Given the description of an element on the screen output the (x, y) to click on. 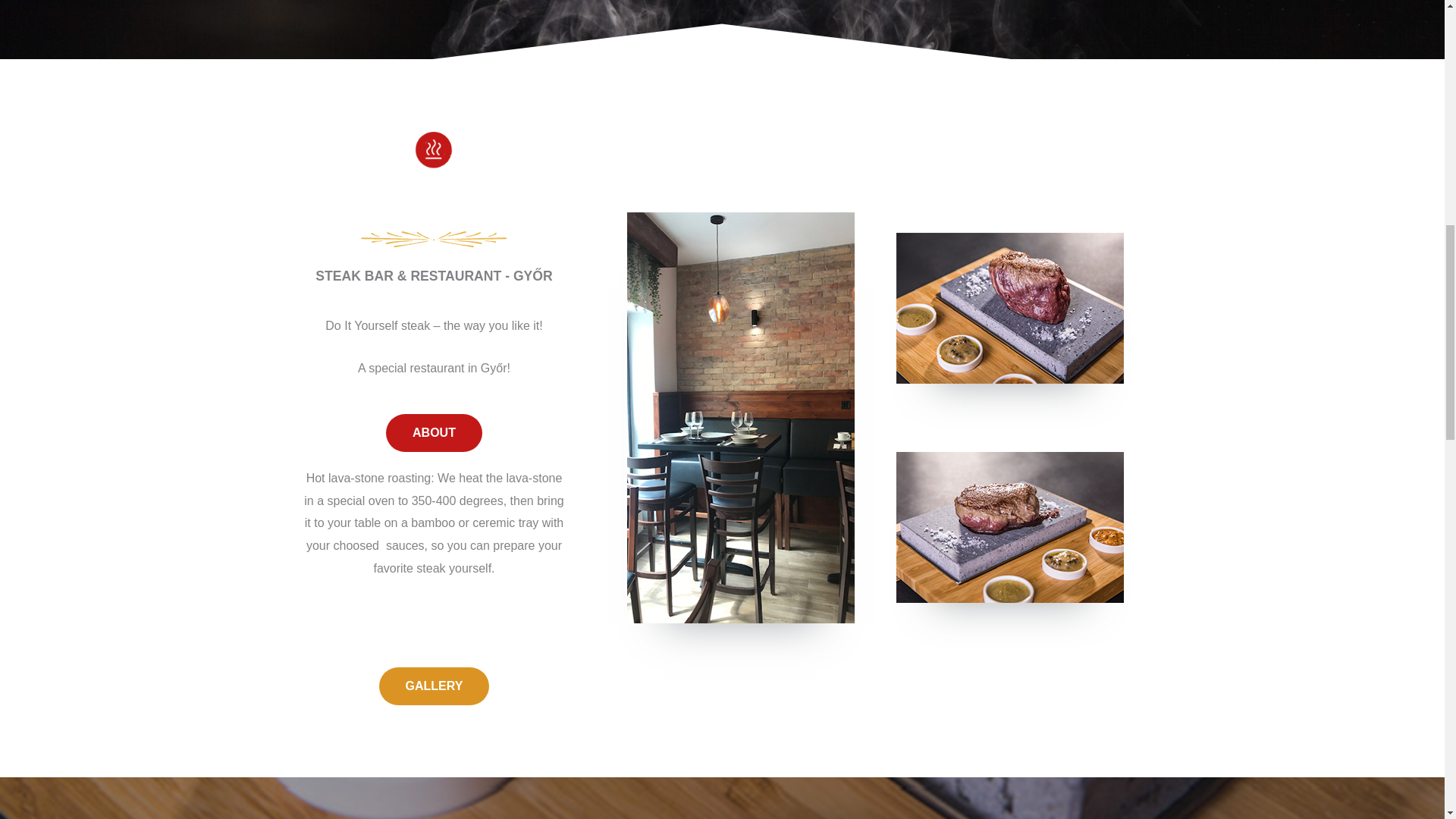
GALLERY (433, 686)
ABOUT (433, 433)
